Given the description of an element on the screen output the (x, y) to click on. 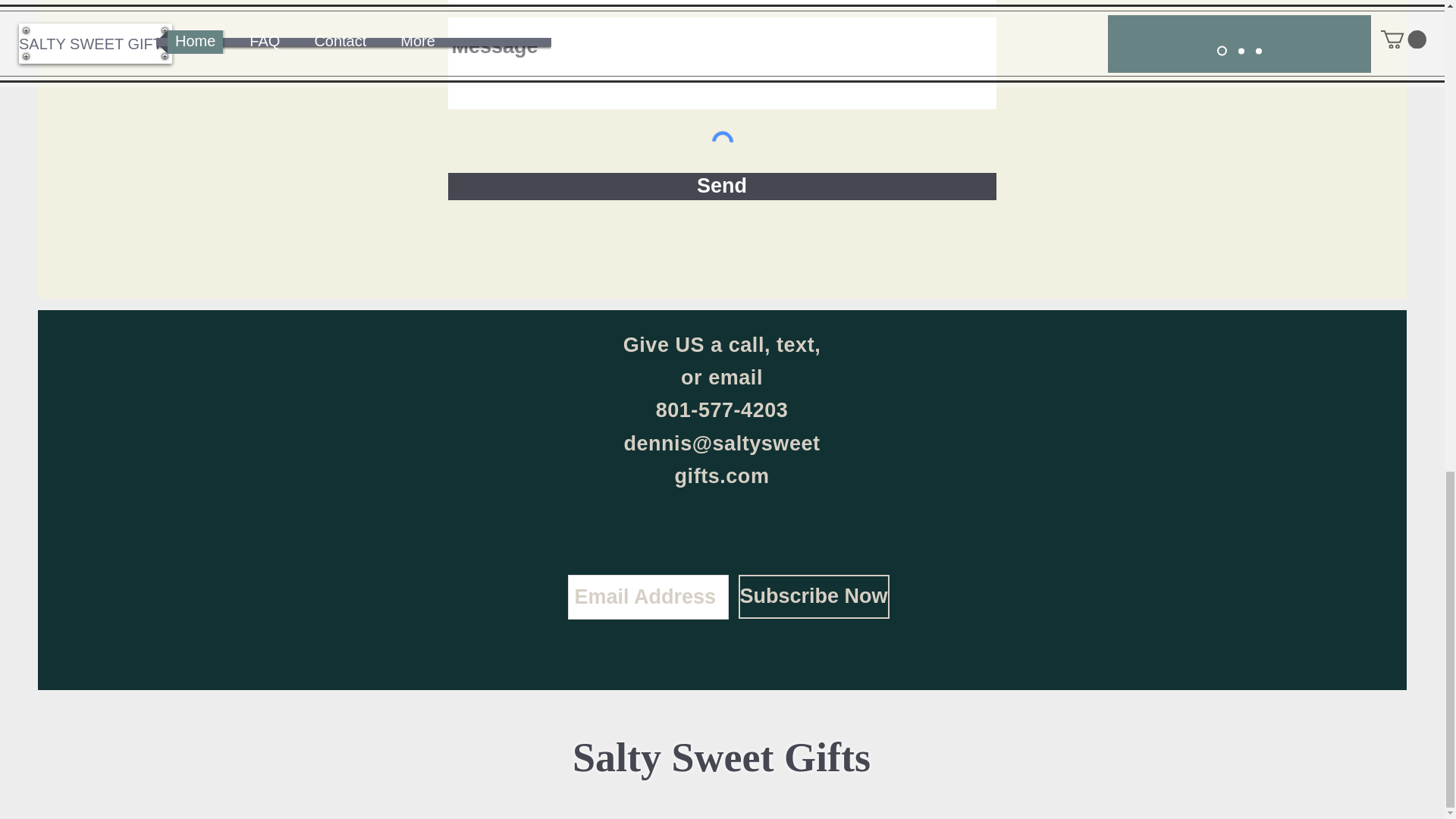
Subscribe Now (813, 596)
Send (720, 185)
